Given the description of an element on the screen output the (x, y) to click on. 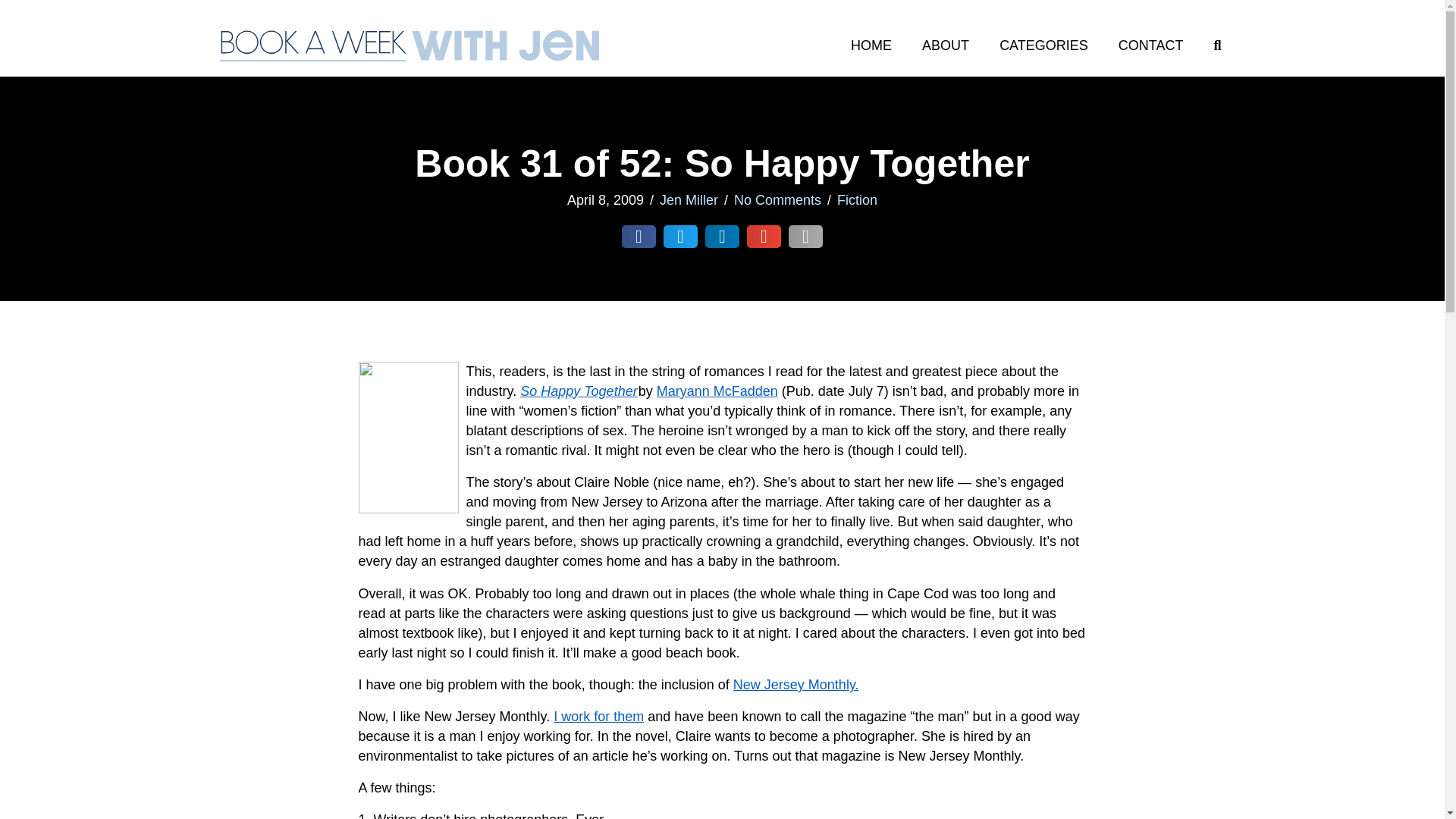
Jen Miller (688, 200)
I work for them (598, 716)
CONTACT (1150, 45)
No Comments (777, 200)
Maryann McFadden (716, 391)
So Happy Together (578, 391)
logo3 (408, 45)
CATEGORIES (1043, 45)
Fiction (857, 200)
New Jersey Monthly. (796, 684)
